Given the description of an element on the screen output the (x, y) to click on. 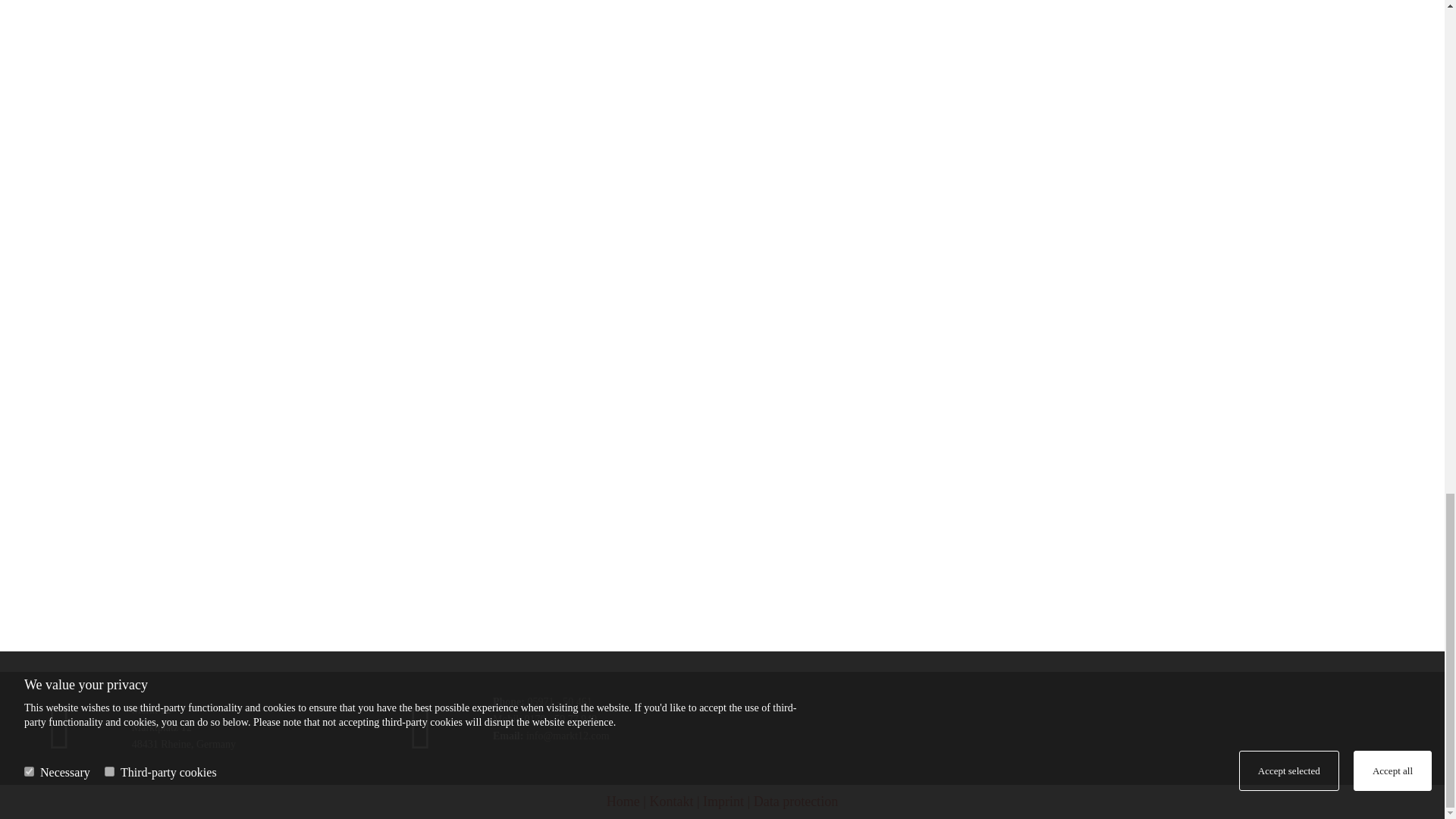
Home (623, 800)
05971 - 50 461 (559, 701)
Data protection (796, 800)
Kontakt (671, 800)
Imprint (723, 800)
